Given the description of an element on the screen output the (x, y) to click on. 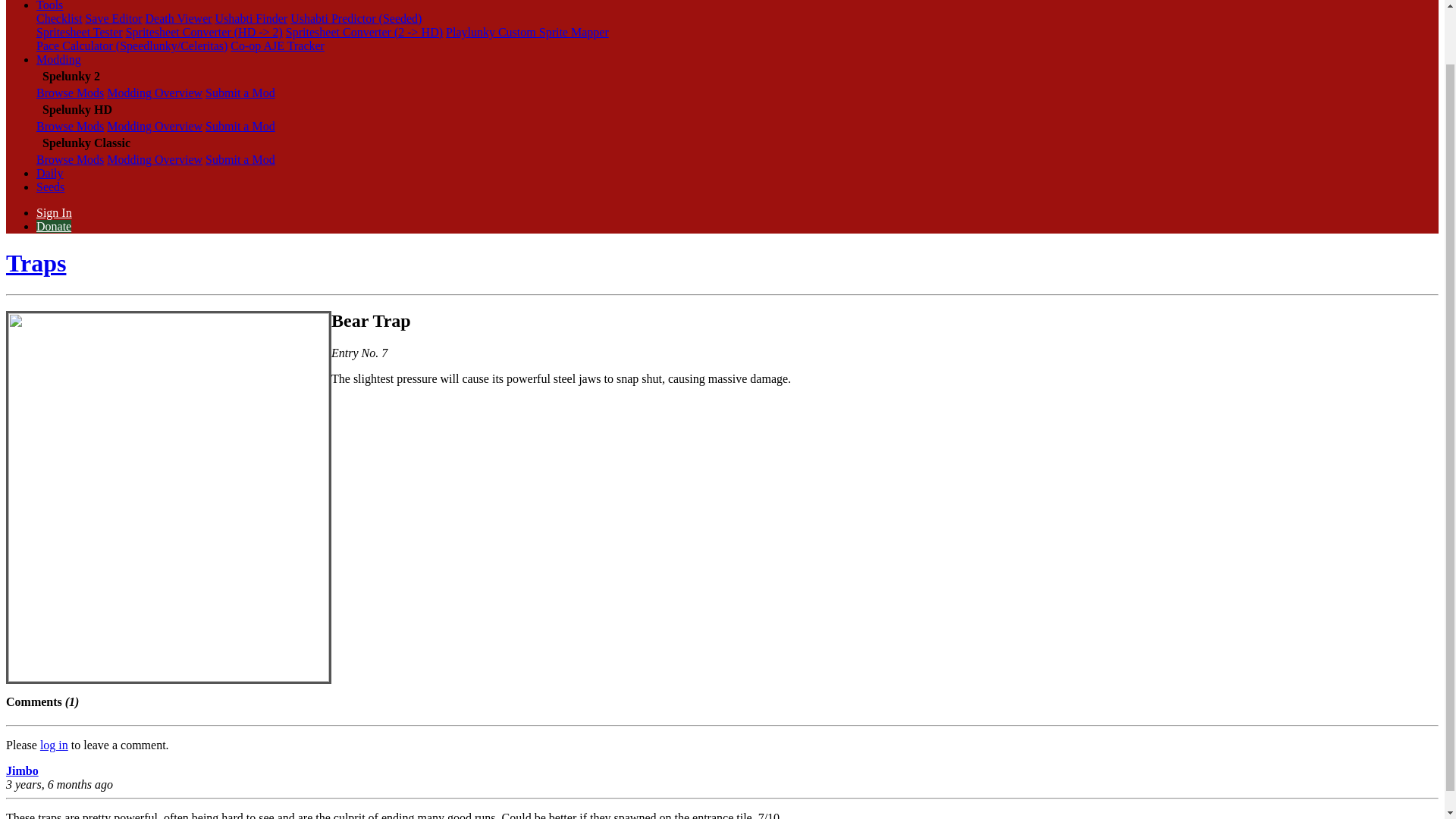
Death Viewer (178, 18)
Playlunky Custom Sprite Mapper (526, 31)
Donate (53, 226)
Seeds (50, 186)
Browse Mods (69, 92)
Save Editor (112, 18)
Modding Overview (154, 159)
Co-op AJE Tracker (277, 45)
Modding Overview (154, 92)
Submit a Mod (240, 92)
Submit a Mod (240, 159)
Modding (58, 59)
Submit a Mod (240, 125)
Tools (49, 5)
Browse Mods (69, 125)
